Given the description of an element on the screen output the (x, y) to click on. 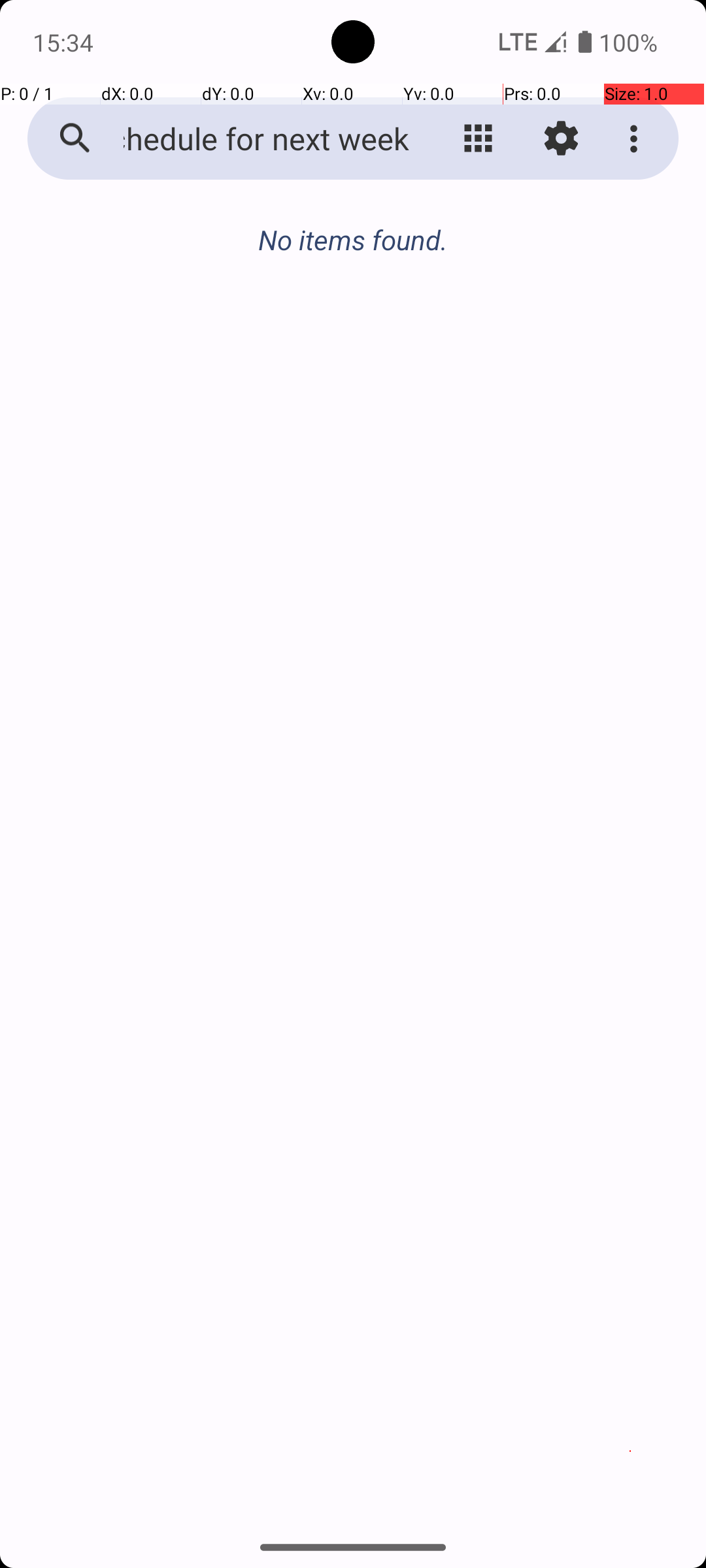
Meeting schedule for next week Element type: android.widget.EditText (252, 138)
Kemmañ ar gwel Element type: android.widget.Button (477, 138)
Darvoud nevez Element type: android.widget.ImageButton (630, 1451)
Here 15 (Sul) Element type: android.widget.TextView (352, 253)
